Given the description of an element on the screen output the (x, y) to click on. 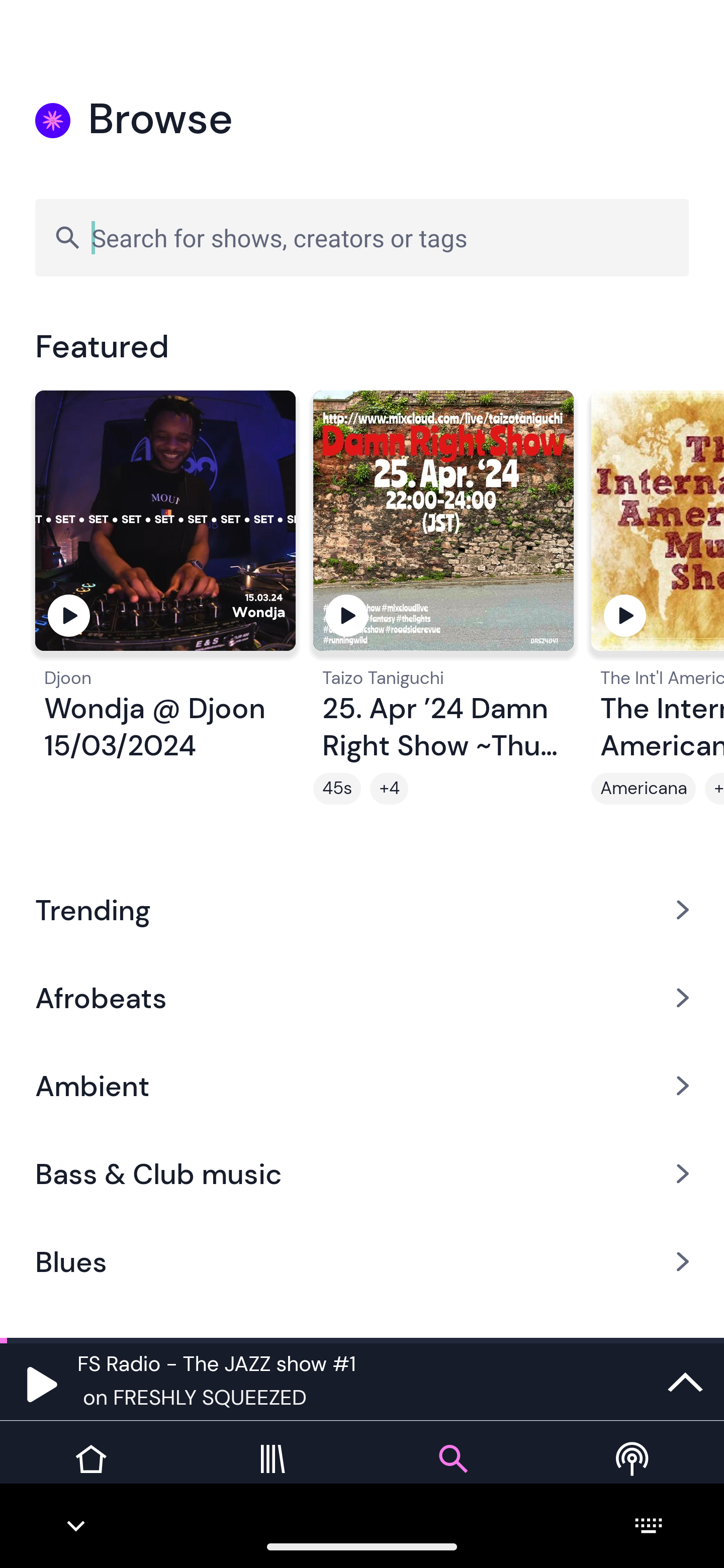
Search for shows, creators or tags (361, 237)
45s (337, 788)
Americana (643, 788)
Trending (361, 909)
Afrobeats (361, 997)
Ambient (361, 1085)
Bass & Club music (361, 1174)
Blues (361, 1262)
Home tab (90, 1473)
Library tab (271, 1473)
Browse tab (452, 1473)
Live tab (633, 1473)
